Given the description of an element on the screen output the (x, y) to click on. 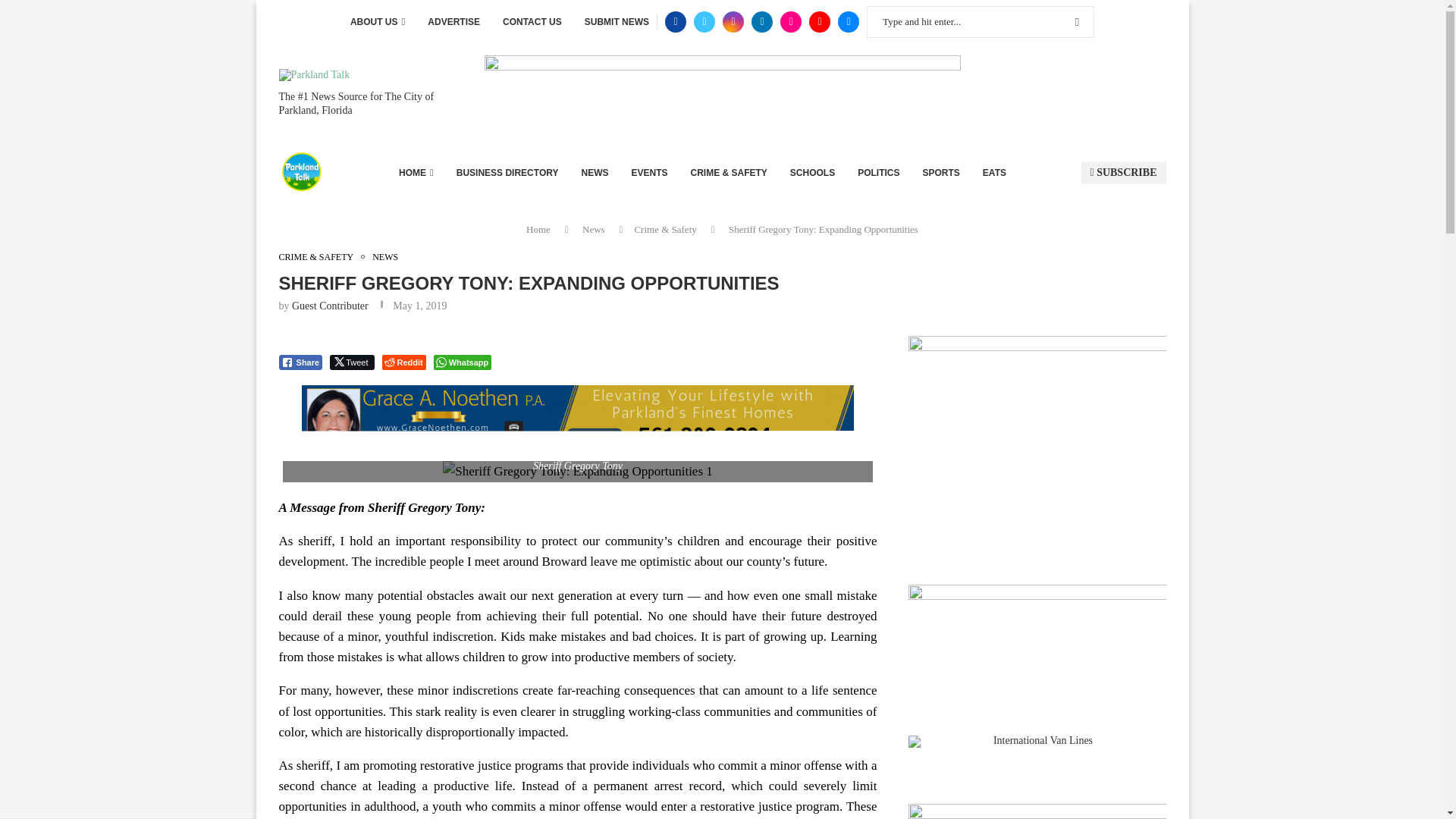
Sheriff Gregory Tony: Expanding Opportunities 6 (577, 471)
HOME (415, 172)
BUSINESS DIRECTORY (508, 172)
ABOUT US (377, 22)
SUBMIT NEWS (617, 22)
CONTACT US (532, 22)
ADVERTISE (454, 22)
